Given the description of an element on the screen output the (x, y) to click on. 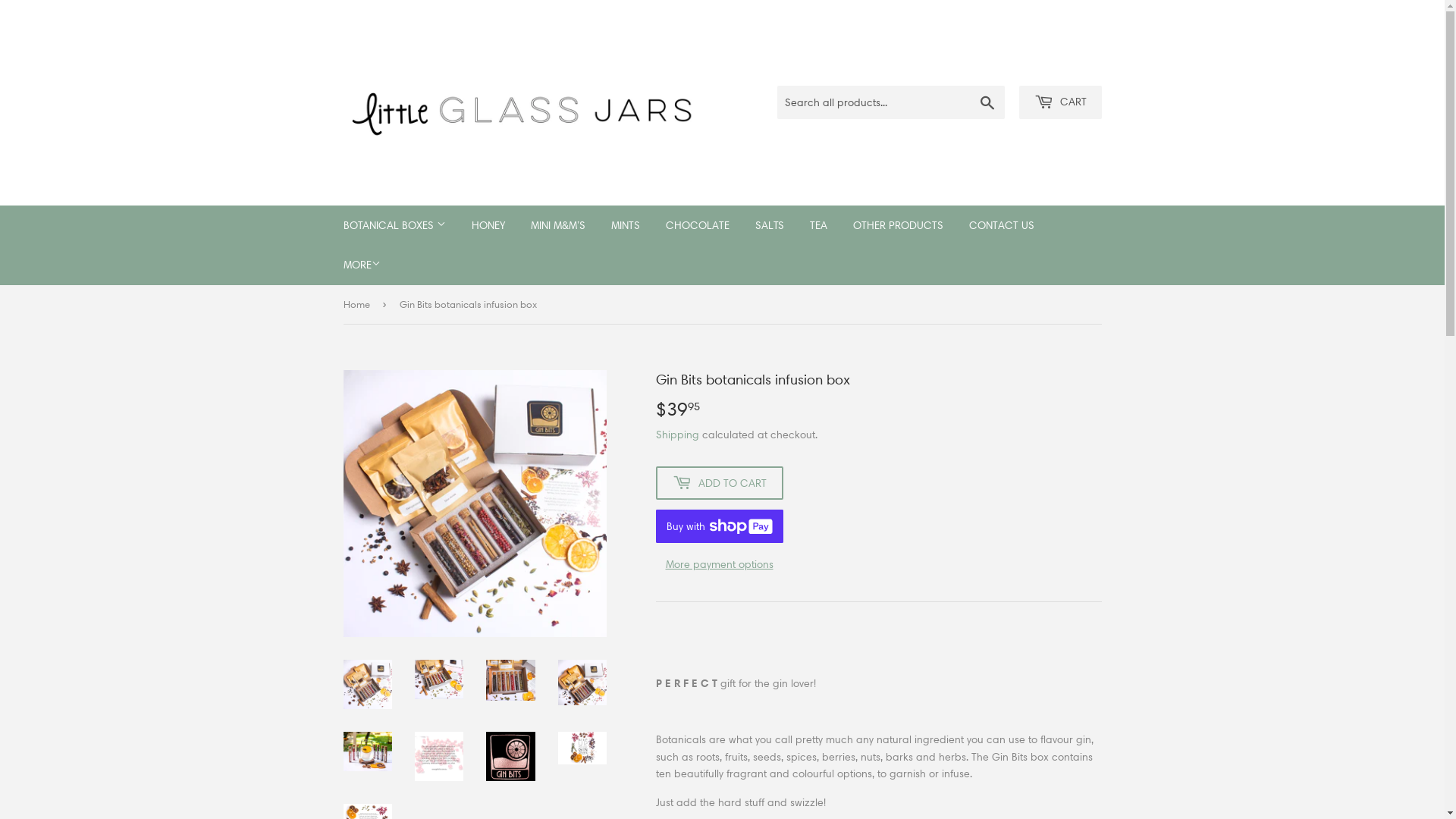
MORE Element type: text (362, 264)
BOTANICAL BOXES Element type: text (394, 224)
CHOCOLATE Element type: text (696, 224)
CART Element type: text (1060, 102)
CONTACT US Element type: text (1000, 224)
Shipping Element type: text (676, 434)
TEA Element type: text (817, 224)
ADD TO CART Element type: text (718, 482)
Search Element type: text (987, 103)
OTHER PRODUCTS Element type: text (897, 224)
MINTS Element type: text (624, 224)
More payment options Element type: text (718, 564)
Home Element type: text (358, 304)
SALTS Element type: text (768, 224)
HONEY Element type: text (487, 224)
